Given the description of an element on the screen output the (x, y) to click on. 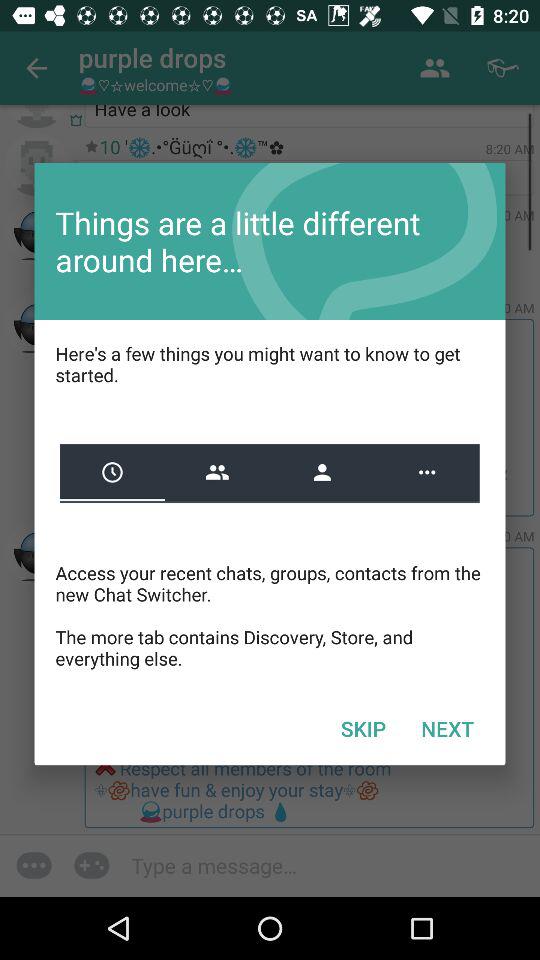
turn on the icon next to the next (363, 728)
